Given the description of an element on the screen output the (x, y) to click on. 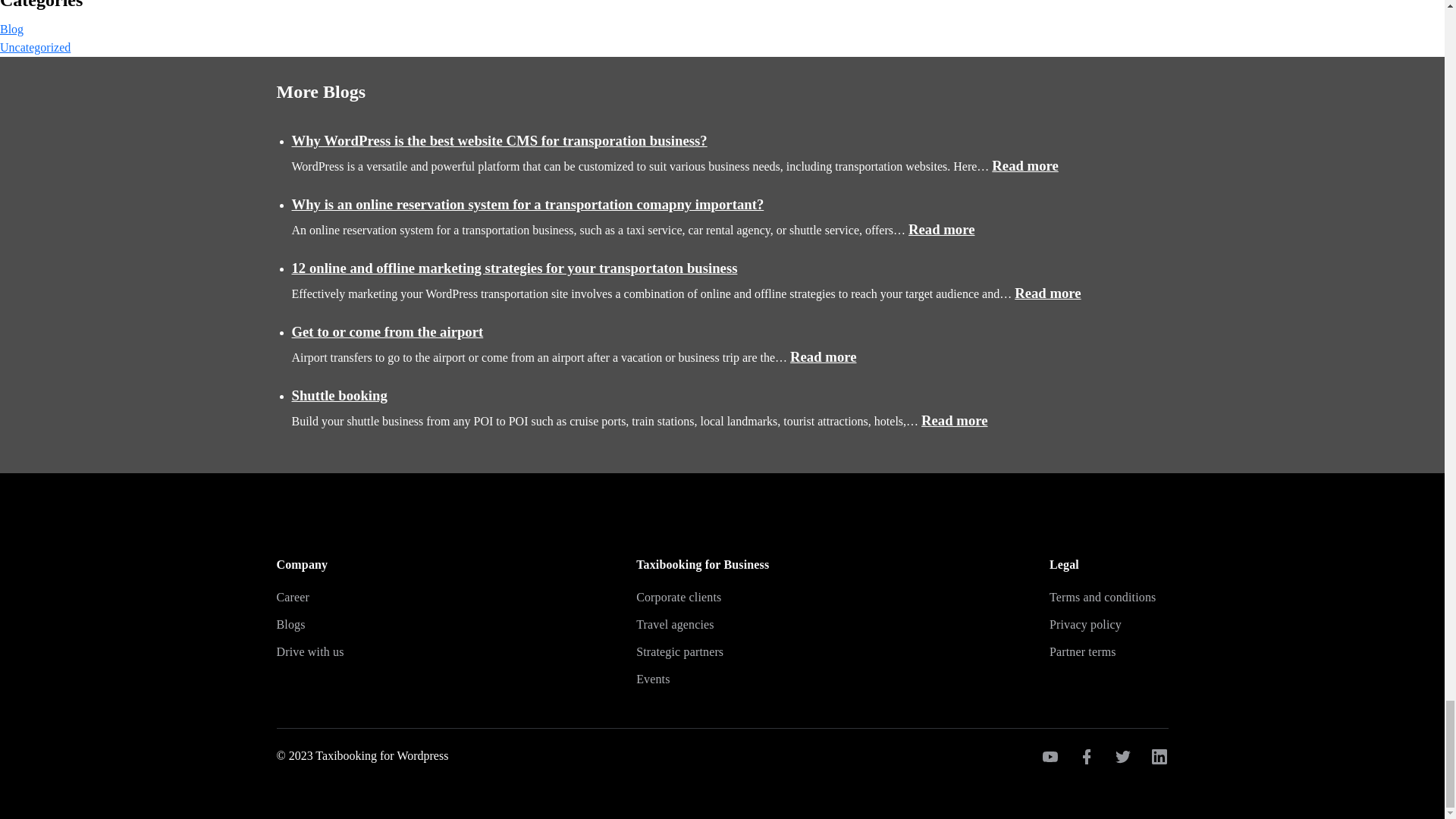
YouTube logo (1049, 756)
Facebook logo (1085, 756)
